Given the description of an element on the screen output the (x, y) to click on. 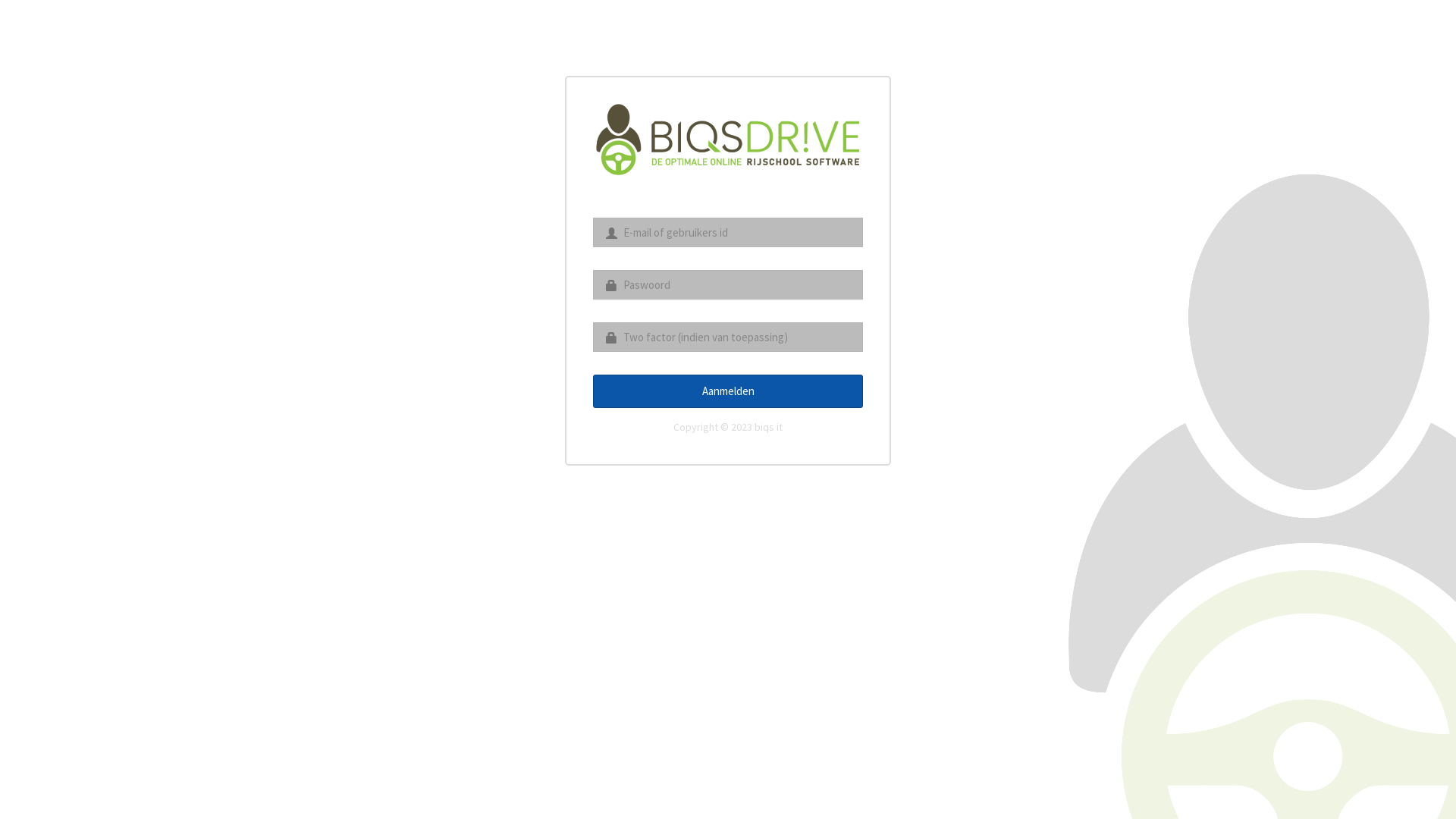
Aanmelden Element type: text (727, 390)
